Given the description of an element on the screen output the (x, y) to click on. 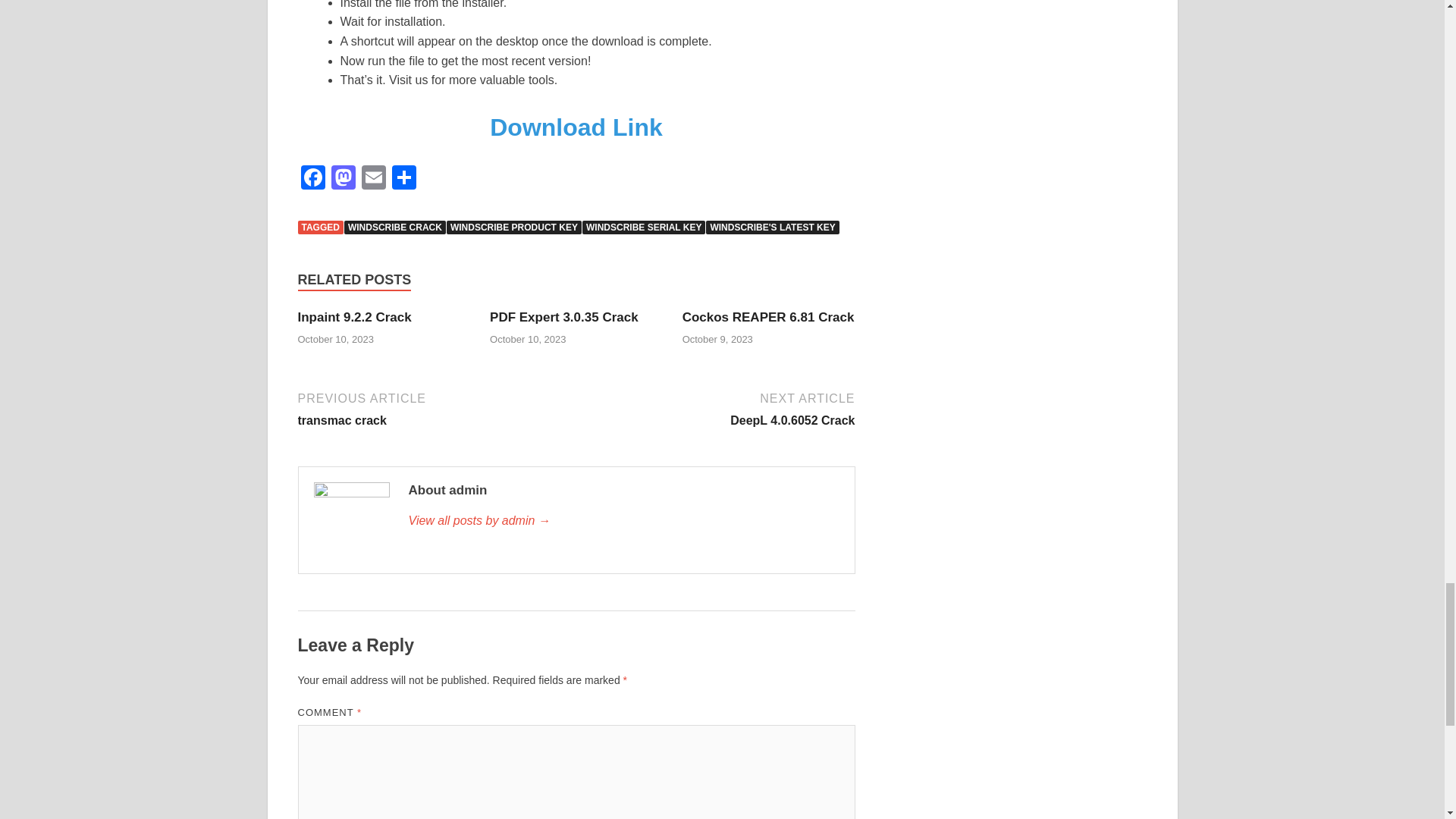
Cockos REAPER 6.81 Crack (768, 317)
Facebook (312, 179)
Facebook (312, 179)
WINDSCRIBE SERIAL KEY (643, 227)
Cockos REAPER 6.81 Crack (768, 317)
Email (373, 179)
Email (373, 179)
admin (622, 520)
Mastodon (342, 179)
Inpaint 9.2.2 Crack (353, 317)
Inpaint 9.2.2 Crack (353, 317)
WINDSCRIBE CRACK (394, 227)
Mastodon (342, 179)
WINDSCRIBE PRODUCT KEY (513, 227)
Share (403, 179)
